Given the description of an element on the screen output the (x, y) to click on. 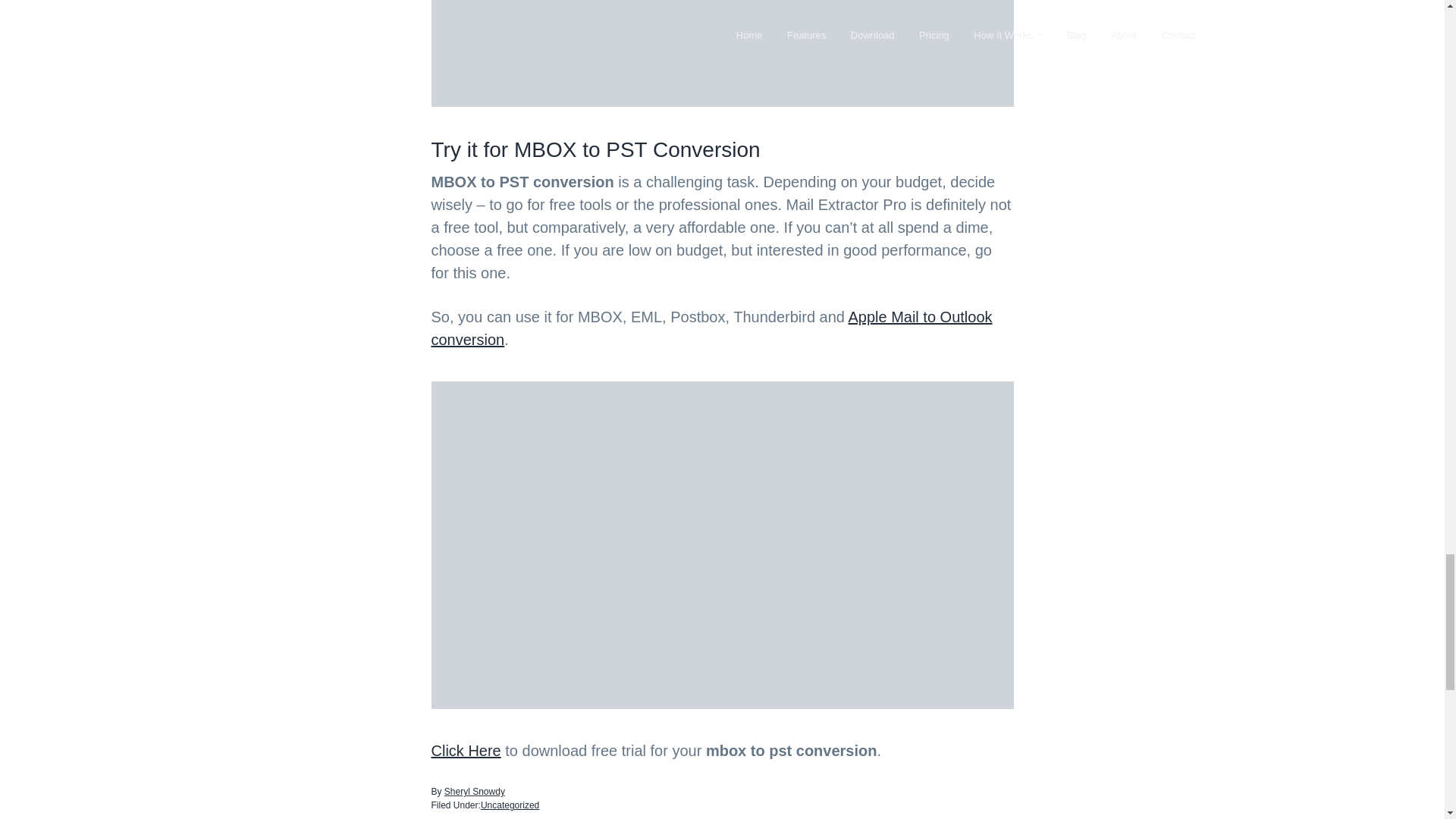
Apple Mail to Outlook conversion (710, 328)
Sheryl Snowdy (474, 791)
Click Here (465, 750)
Uncategorized (509, 805)
